Given the description of an element on the screen output the (x, y) to click on. 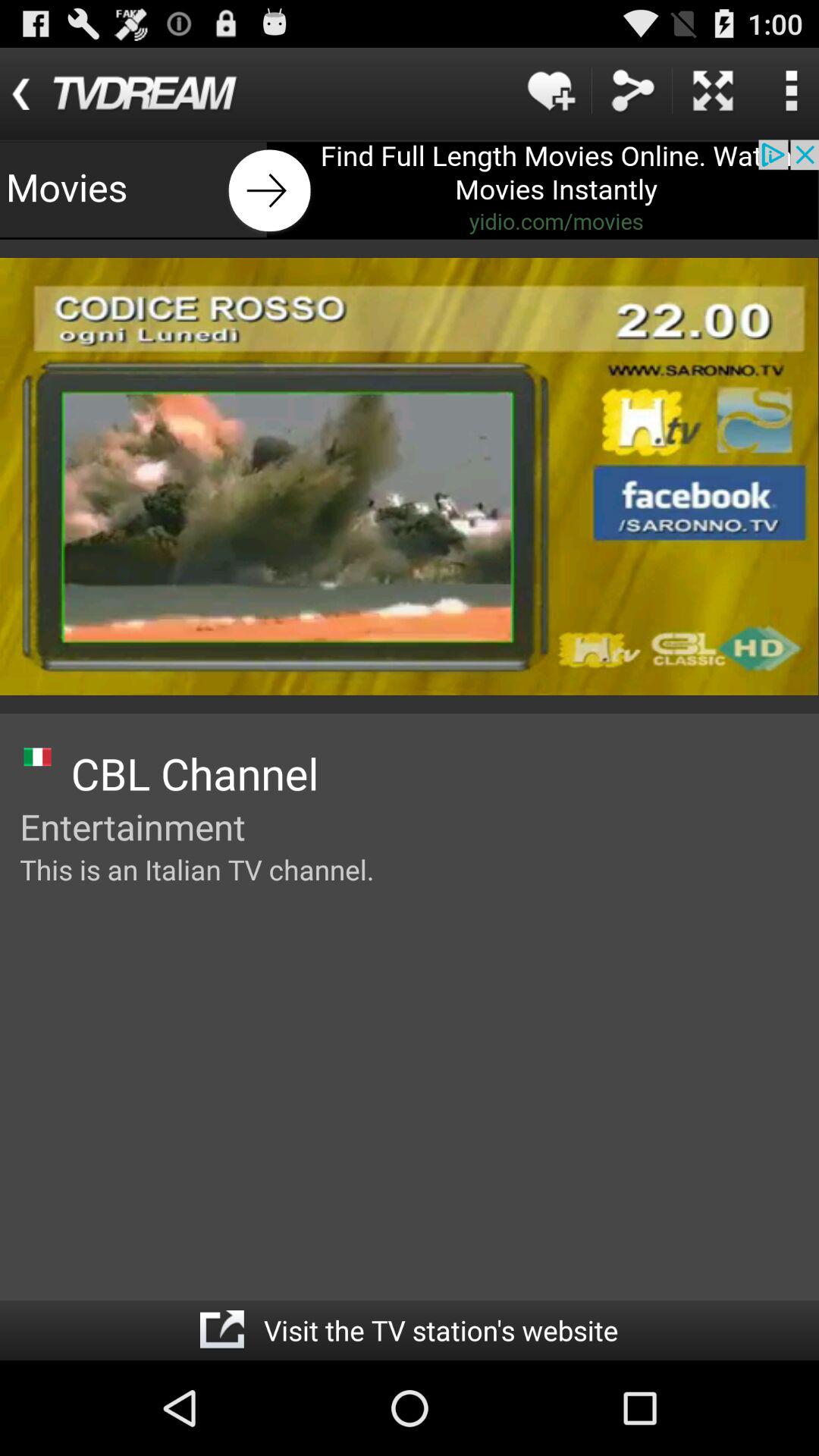
share (632, 90)
